Given the description of an element on the screen output the (x, y) to click on. 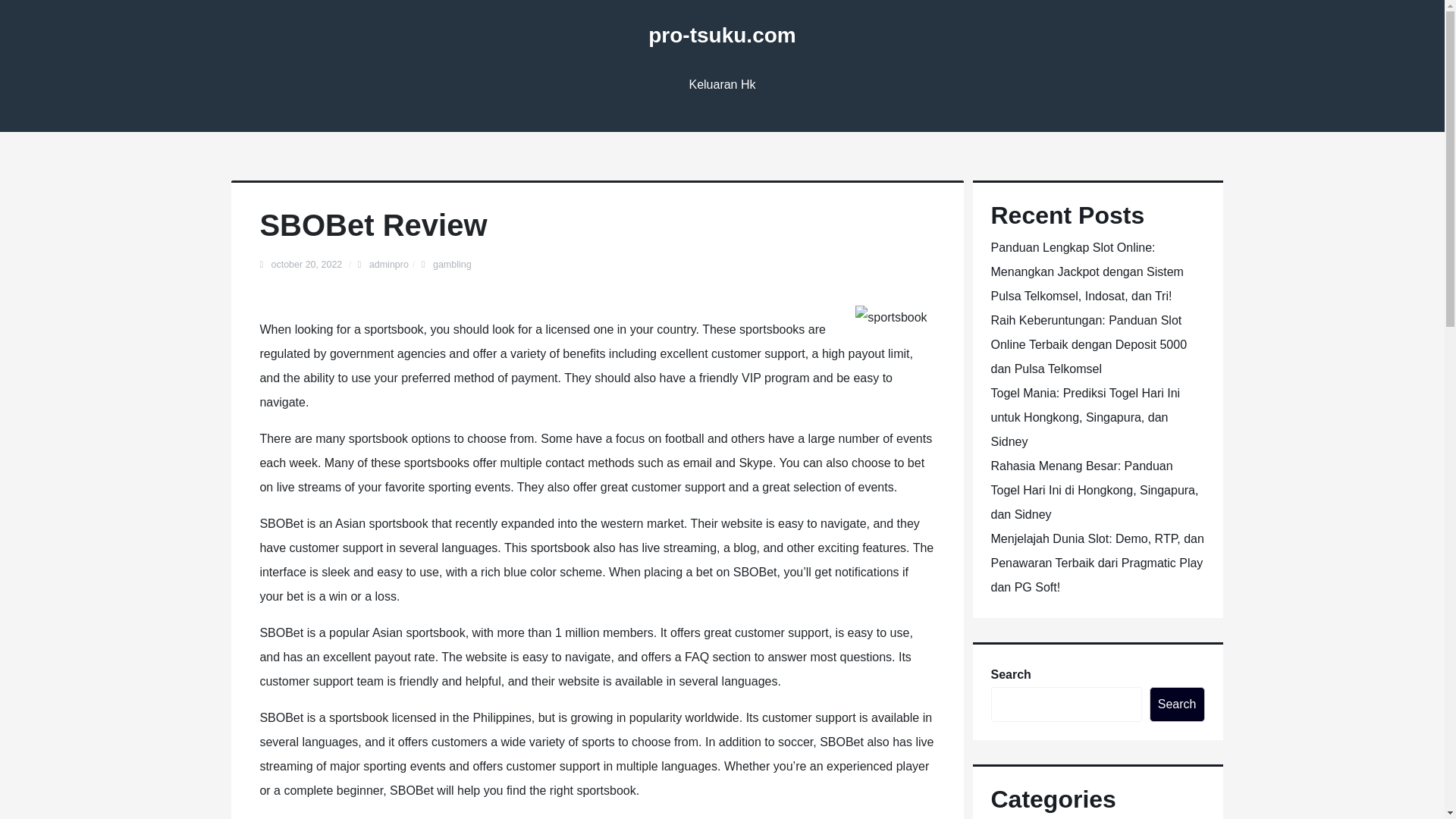
adminpro (389, 264)
gambling (451, 264)
Keluaran Hk (721, 84)
pro-tsuku.com (720, 34)
Keluaran Hk (721, 84)
october 20, 2022 (306, 264)
Search (1177, 704)
